Given the description of an element on the screen output the (x, y) to click on. 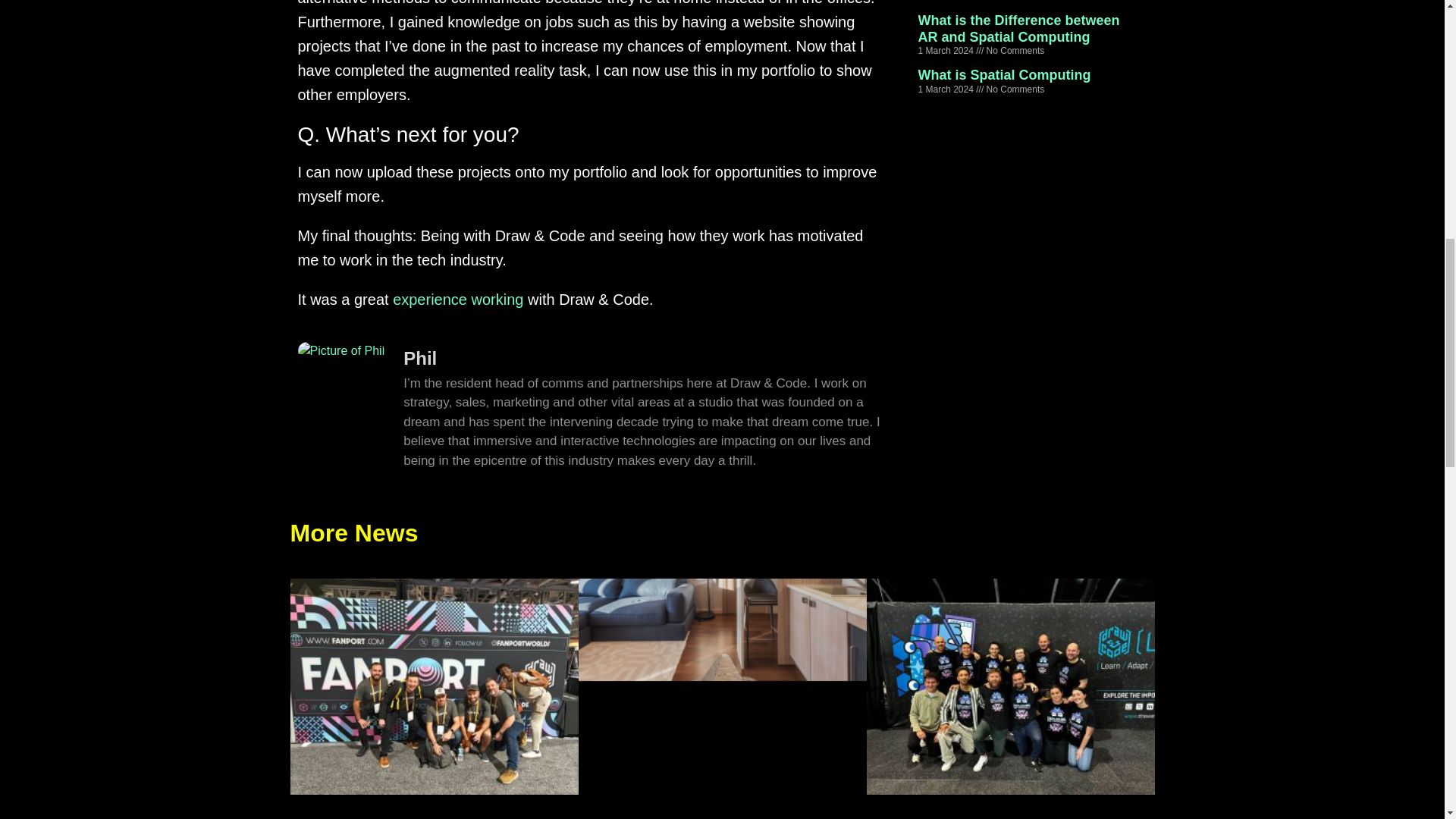
experience working (457, 299)
Phil (644, 359)
